Given the description of an element on the screen output the (x, y) to click on. 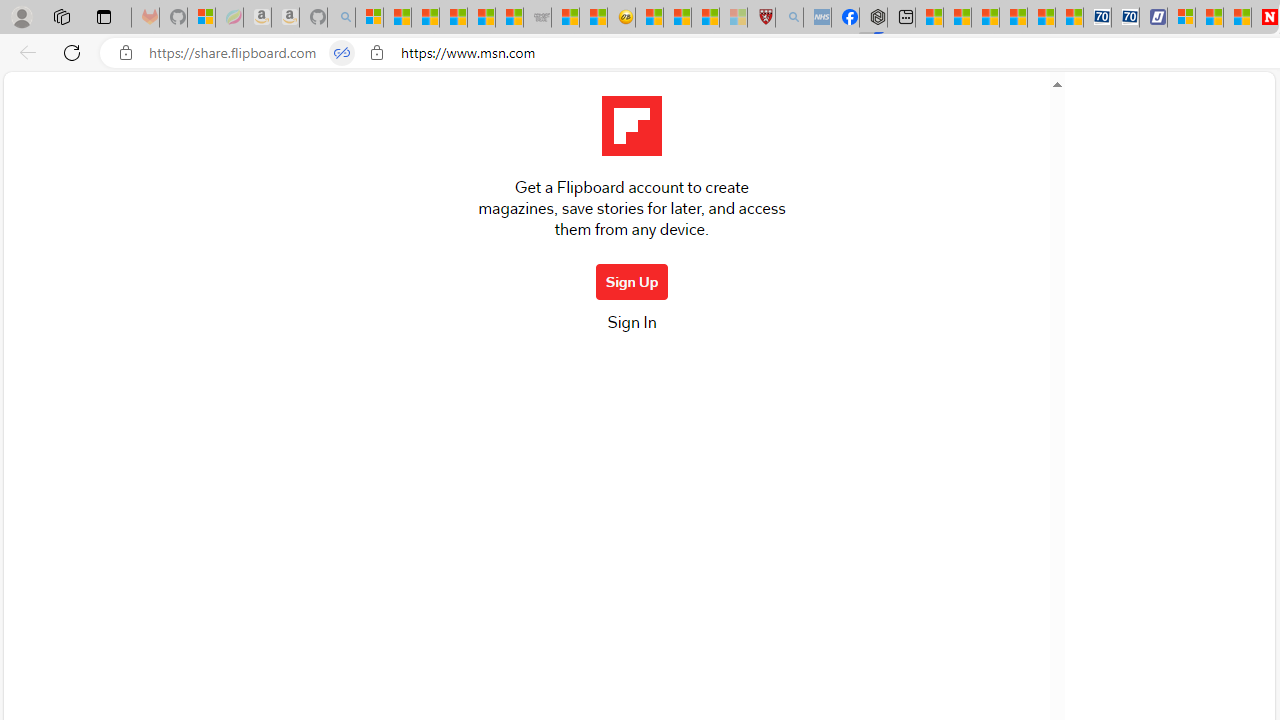
Cheap Hotels - Save70.com (1125, 17)
Combat Siege (537, 17)
Class: logo (631, 125)
Sign Up (632, 282)
Tabs in split screen (341, 53)
Nordace - Nordace Siena Is Not An Ordinary Backpack (873, 17)
